Given the description of an element on the screen output the (x, y) to click on. 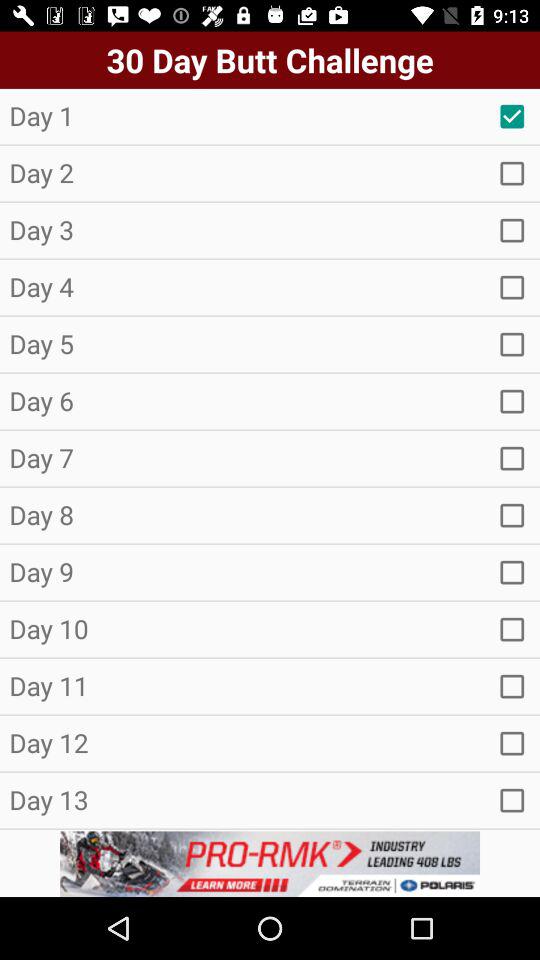
select option (512, 743)
